Given the description of an element on the screen output the (x, y) to click on. 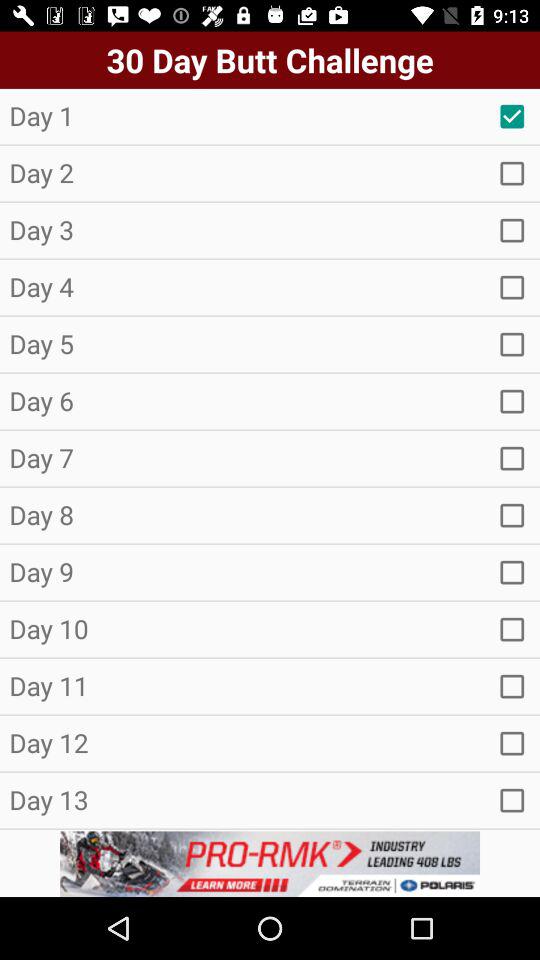
select option (512, 743)
